Given the description of an element on the screen output the (x, y) to click on. 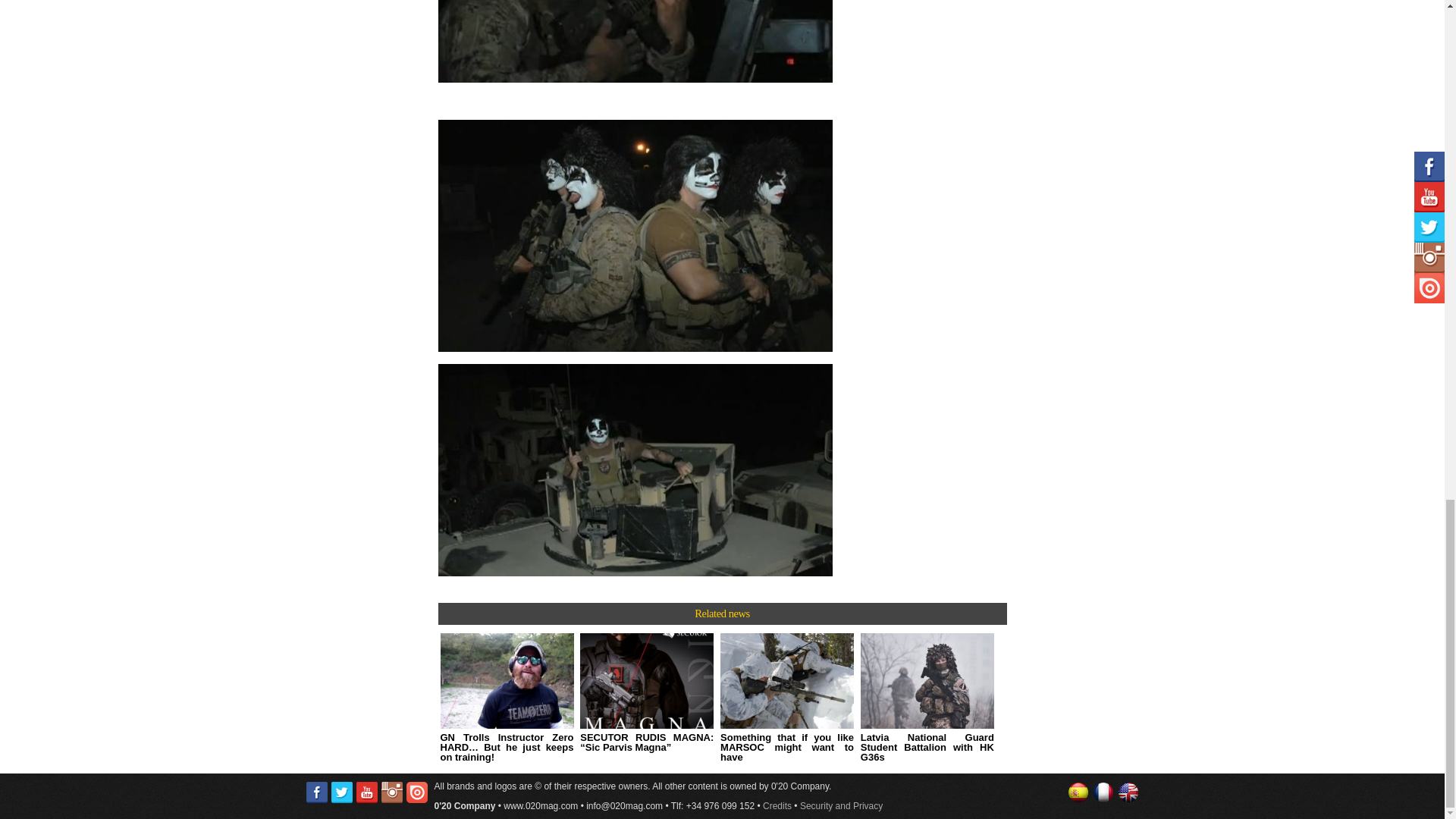
Allez sur Facebook  0'20 Magazine (316, 792)
0'20 English (1128, 792)
0'20 Spanish (1078, 792)
Security and Privacy (840, 805)
Latvia National Guard Student Battalion with HK G36s (927, 697)
Allez sur Youtube 0'20 Magazine (366, 792)
Allez sur Flickr 0'20 Magazine (390, 792)
0'20 French (1102, 792)
0'20 English (1128, 792)
Ir al espacio 020 en Issue (417, 792)
